Given the description of an element on the screen output the (x, y) to click on. 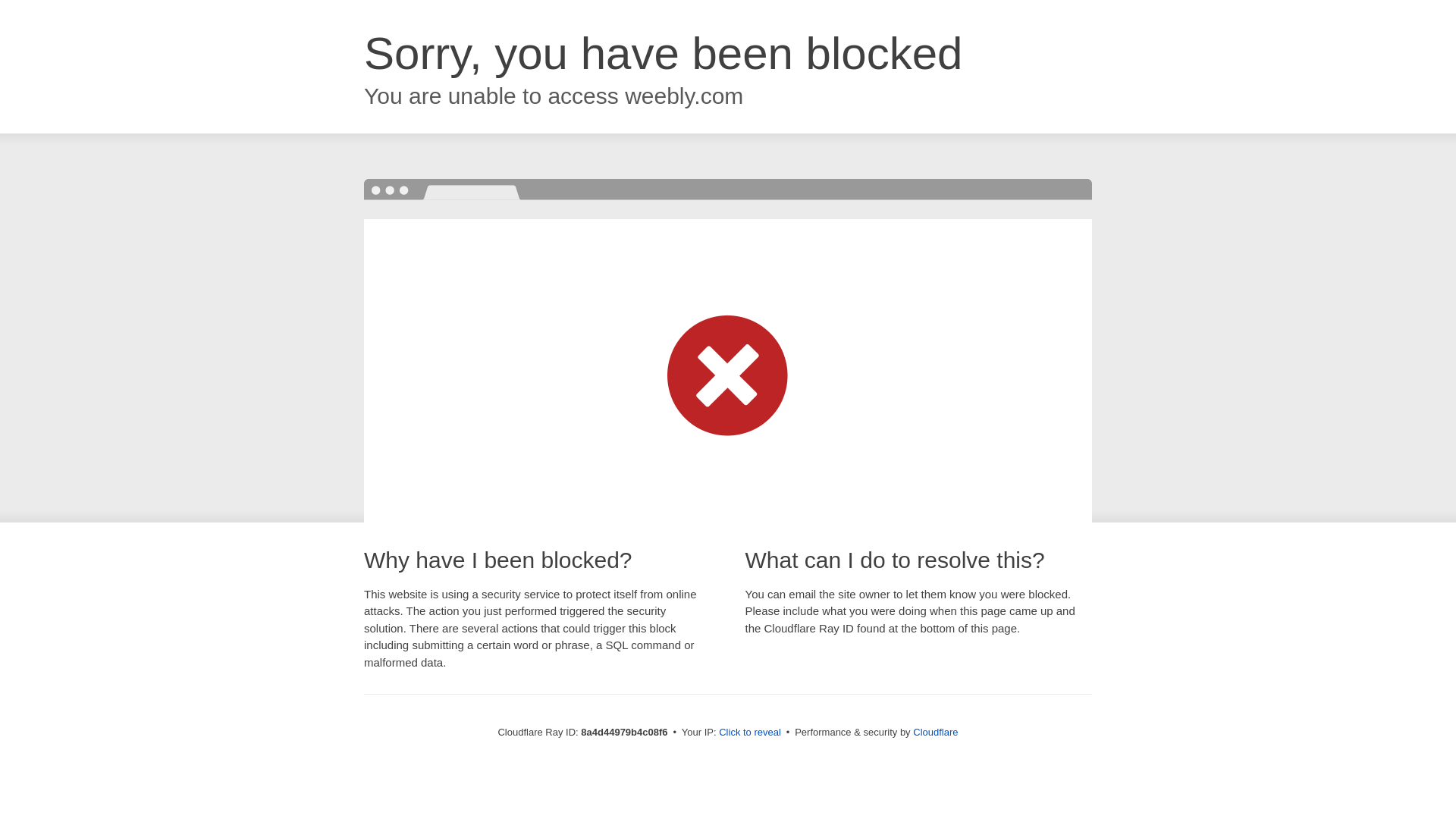
Click to reveal (749, 732)
Cloudflare (935, 731)
